Given the description of an element on the screen output the (x, y) to click on. 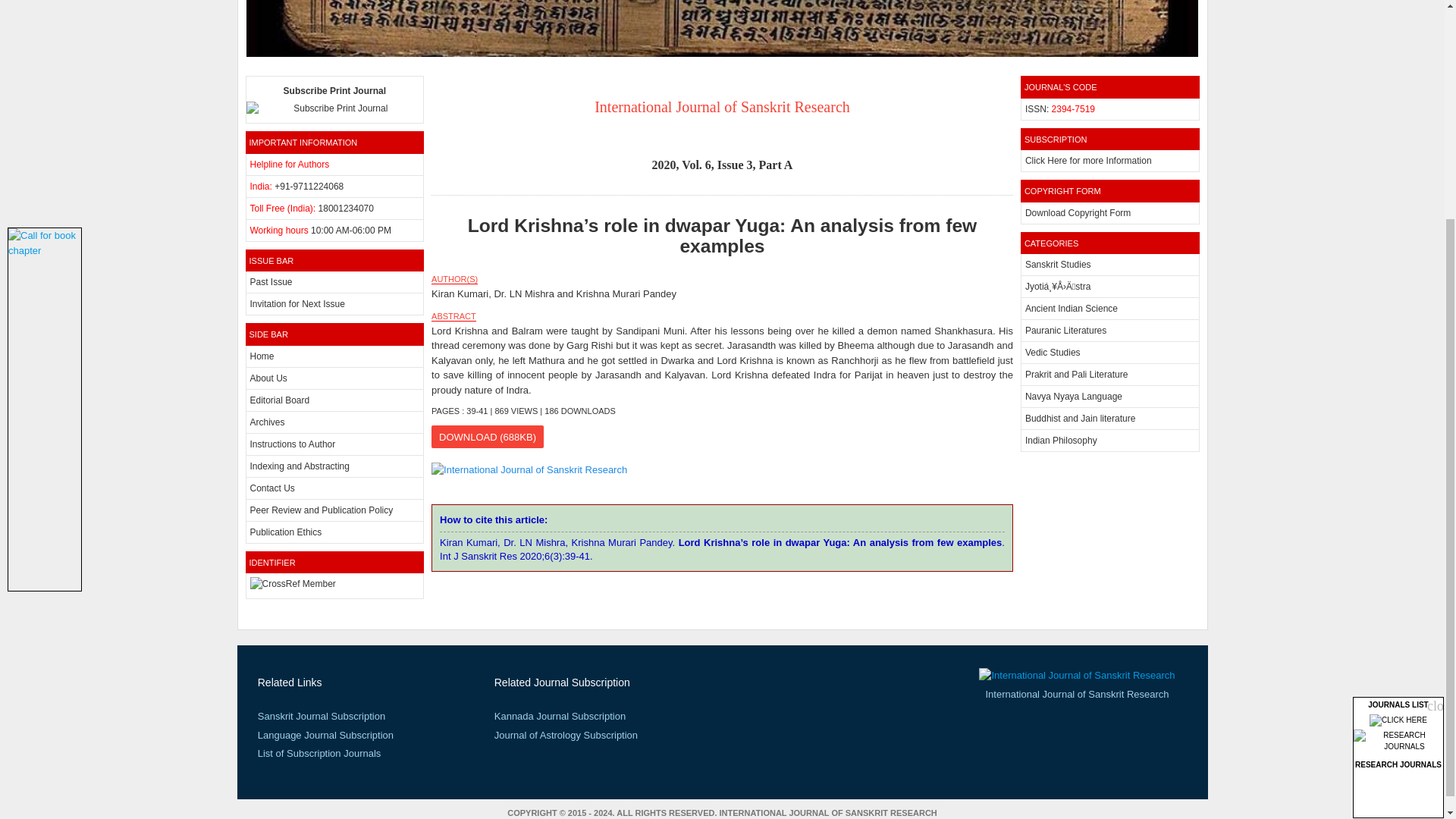
About Us (268, 378)
Contact Us (272, 488)
Editorial Board (280, 399)
Invitation for Next Issue (297, 303)
Peer Review and Publication Policy (321, 510)
Instructions to Author (293, 443)
Subscribe Print Journal (335, 99)
Indexing and Abstracting (299, 466)
Archives (267, 421)
Home (262, 356)
Past Issue (271, 281)
Publication Ethics (285, 532)
